Given the description of an element on the screen output the (x, y) to click on. 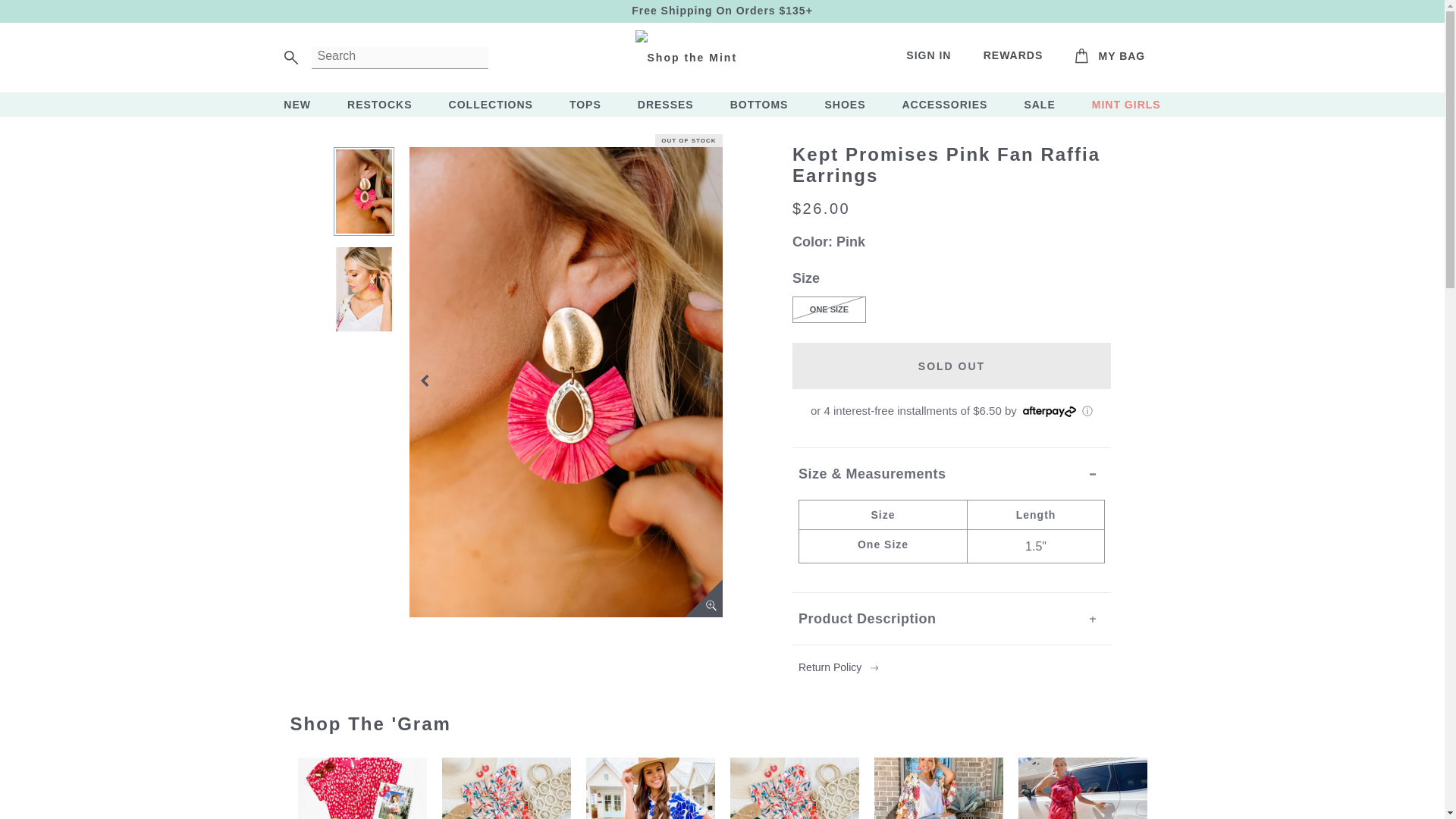
SIGN IN (927, 55)
COLLECTIONS (490, 104)
RESTOCKS (1110, 57)
Go to Shopping Cart (379, 104)
NEW (1110, 57)
REWARDS (297, 104)
